Given the description of an element on the screen output the (x, y) to click on. 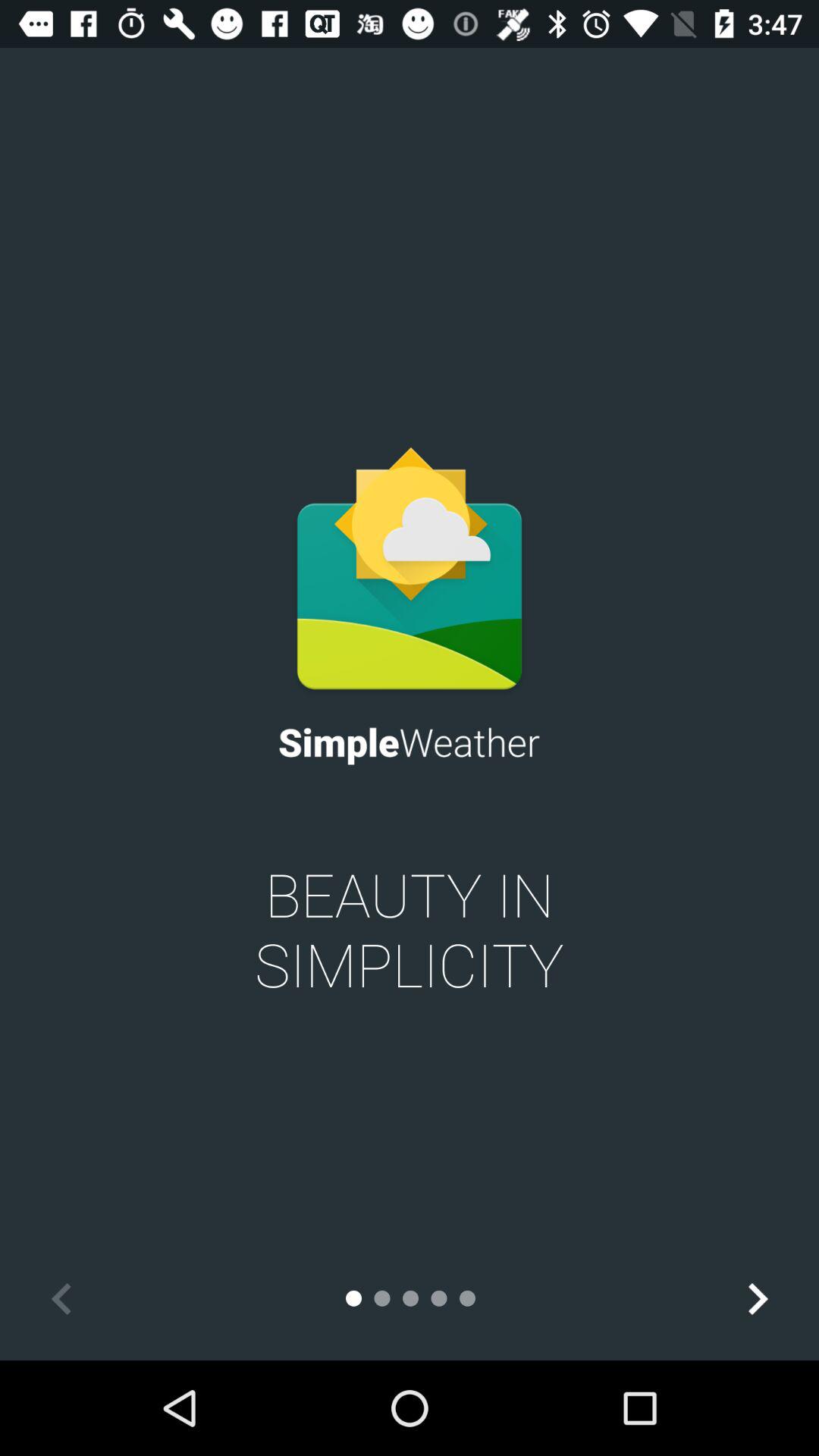
tap the icon at the bottom right corner (757, 1298)
